Given the description of an element on the screen output the (x, y) to click on. 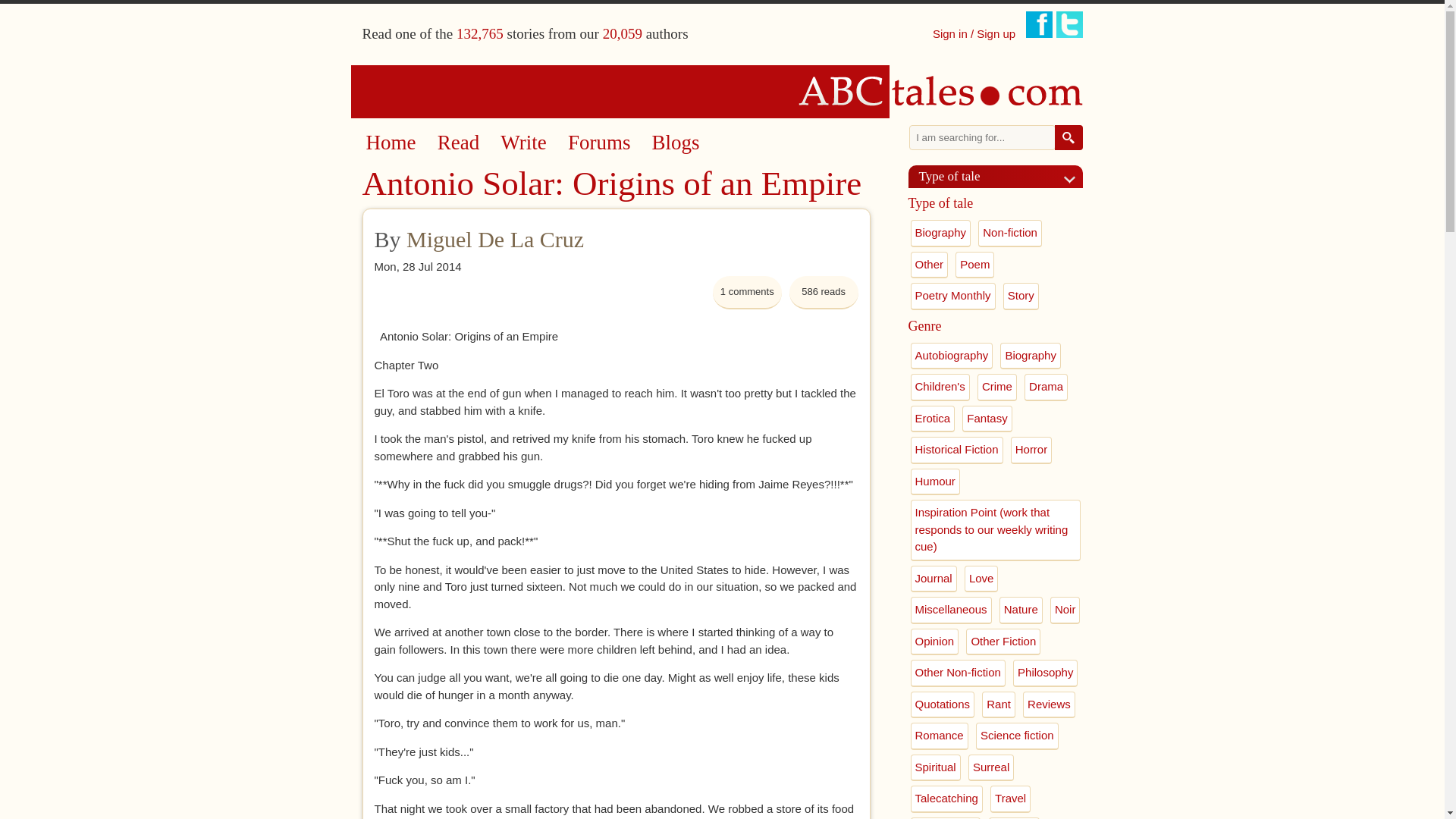
Poem (974, 265)
Drama (1046, 387)
Poetry Monthly (952, 296)
Blogs (676, 142)
Autobiography (951, 356)
Home (722, 91)
Forums (598, 142)
Children's (939, 387)
Enter the terms you wish to search for. (981, 137)
Read (458, 142)
